Given the description of an element on the screen output the (x, y) to click on. 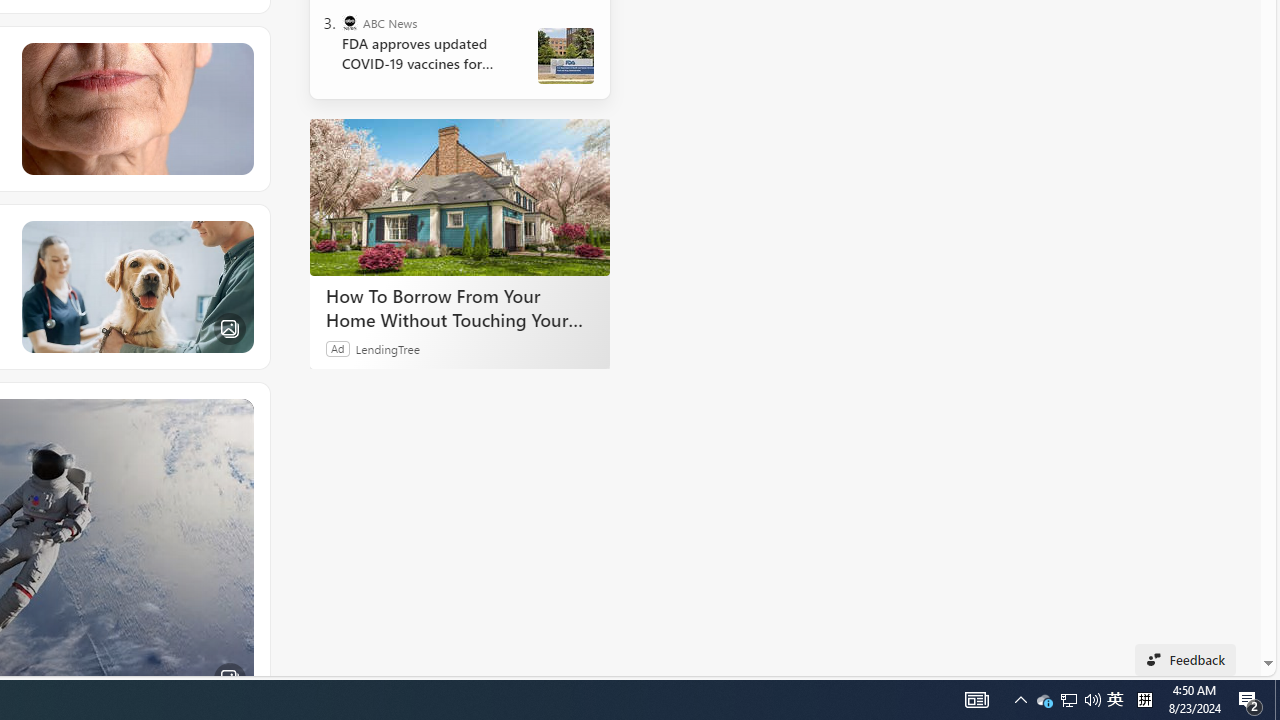
ABC News (349, 22)
